Given the description of an element on the screen output the (x, y) to click on. 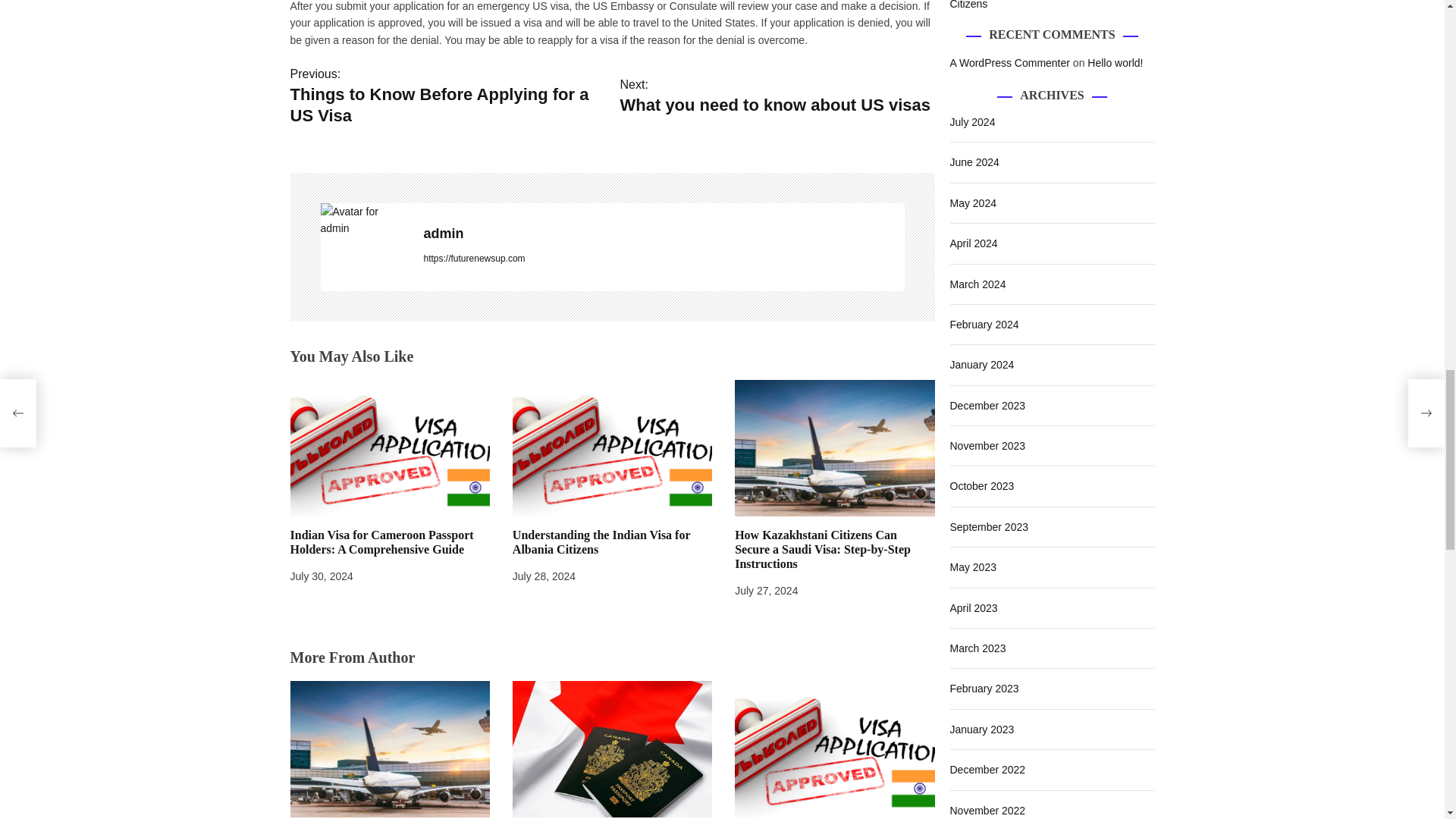
admin (363, 220)
admin (663, 233)
